Given the description of an element on the screen output the (x, y) to click on. 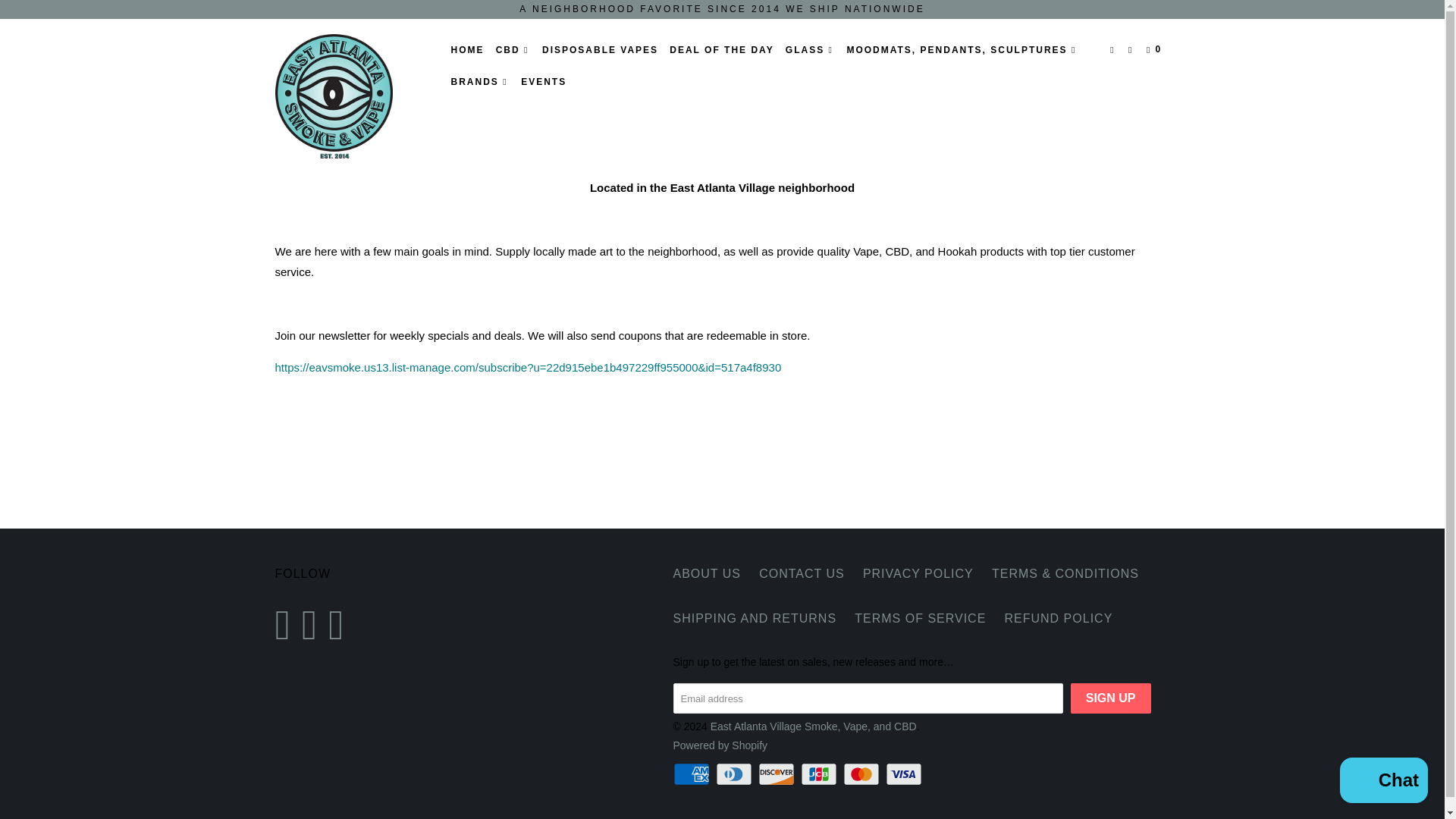
Discover (777, 773)
Sign Up (1110, 698)
JCB (820, 773)
American Express (692, 773)
Join our newsletter (527, 367)
Mastercard (862, 773)
Shopify online store chat (1383, 781)
East Atlanta Village Smoke, Vape, and CBD (352, 95)
Diners Club (735, 773)
Visa (904, 773)
